Given the description of an element on the screen output the (x, y) to click on. 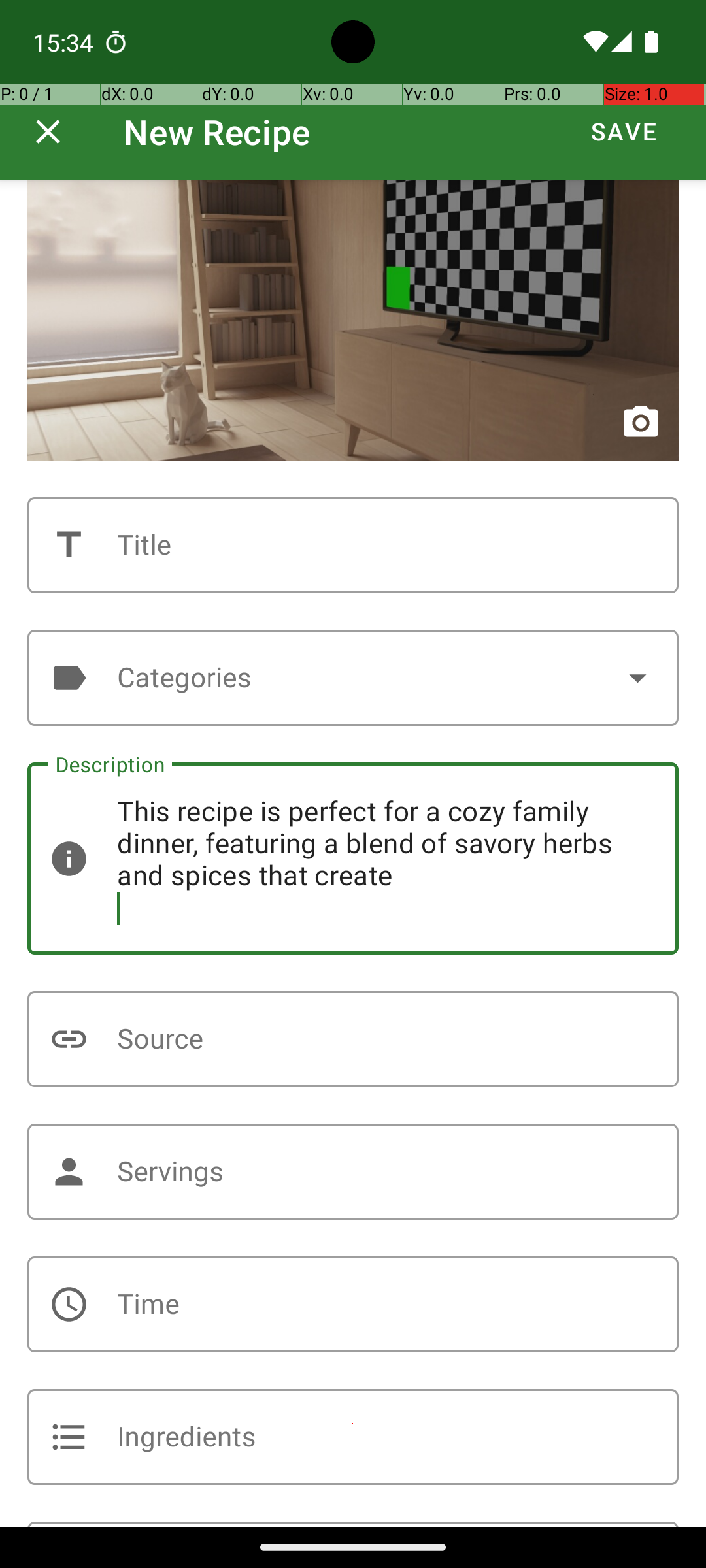
This recipe is perfect for a cozy family dinner, featuring a blend of savory herbs and spices that create
 Element type: android.widget.EditText (352, 858)
